Given the description of an element on the screen output the (x, y) to click on. 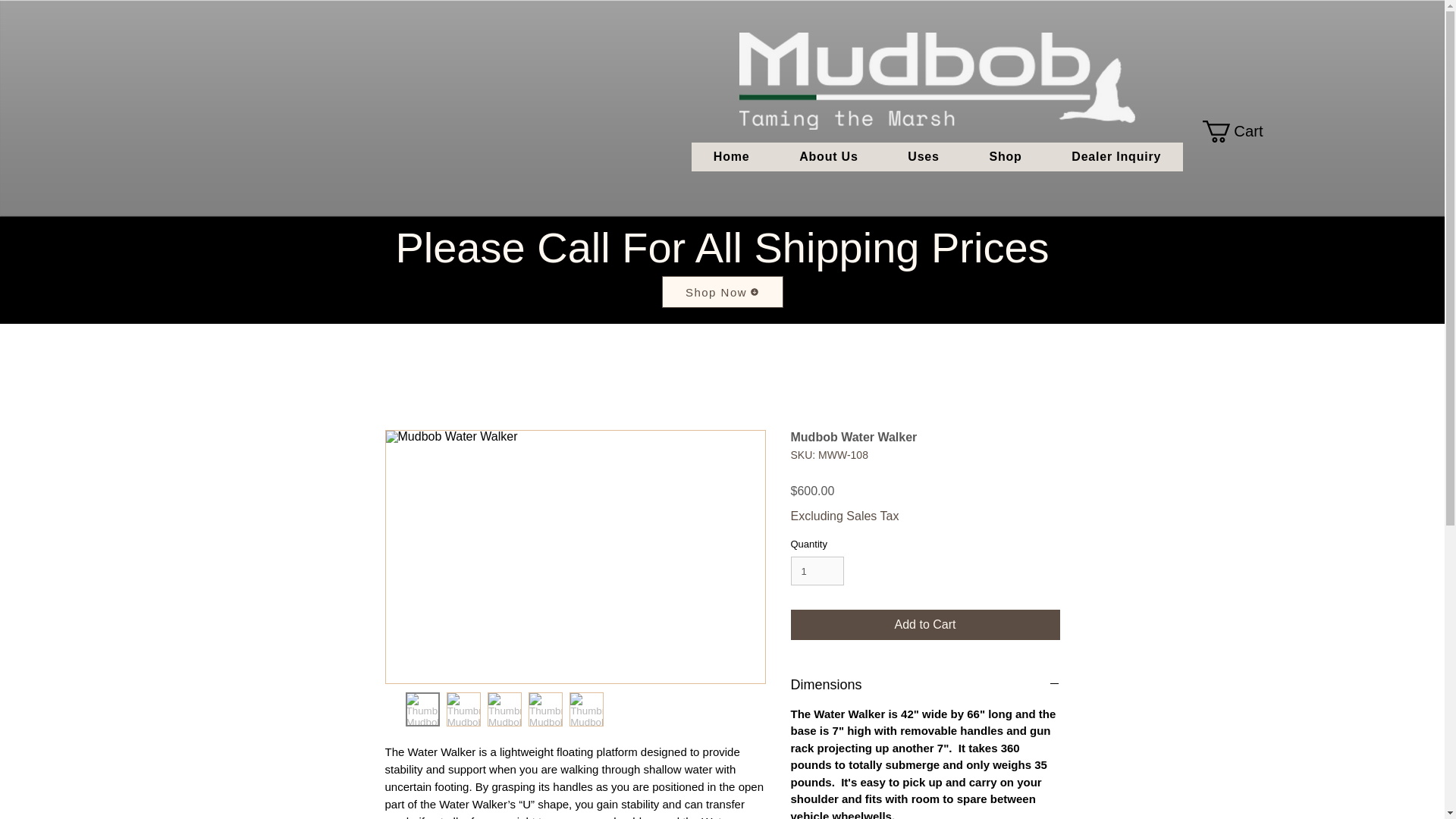
Uses (922, 156)
1 (817, 570)
Add to Cart (924, 624)
Logo-1698353162615.png (937, 80)
Shop Now (722, 291)
Dimensions (924, 684)
Home (731, 156)
Shop (1005, 156)
About Us (828, 156)
Cart (1243, 131)
Dealer Inquiry (1115, 156)
Cart (1243, 131)
